Given the description of an element on the screen output the (x, y) to click on. 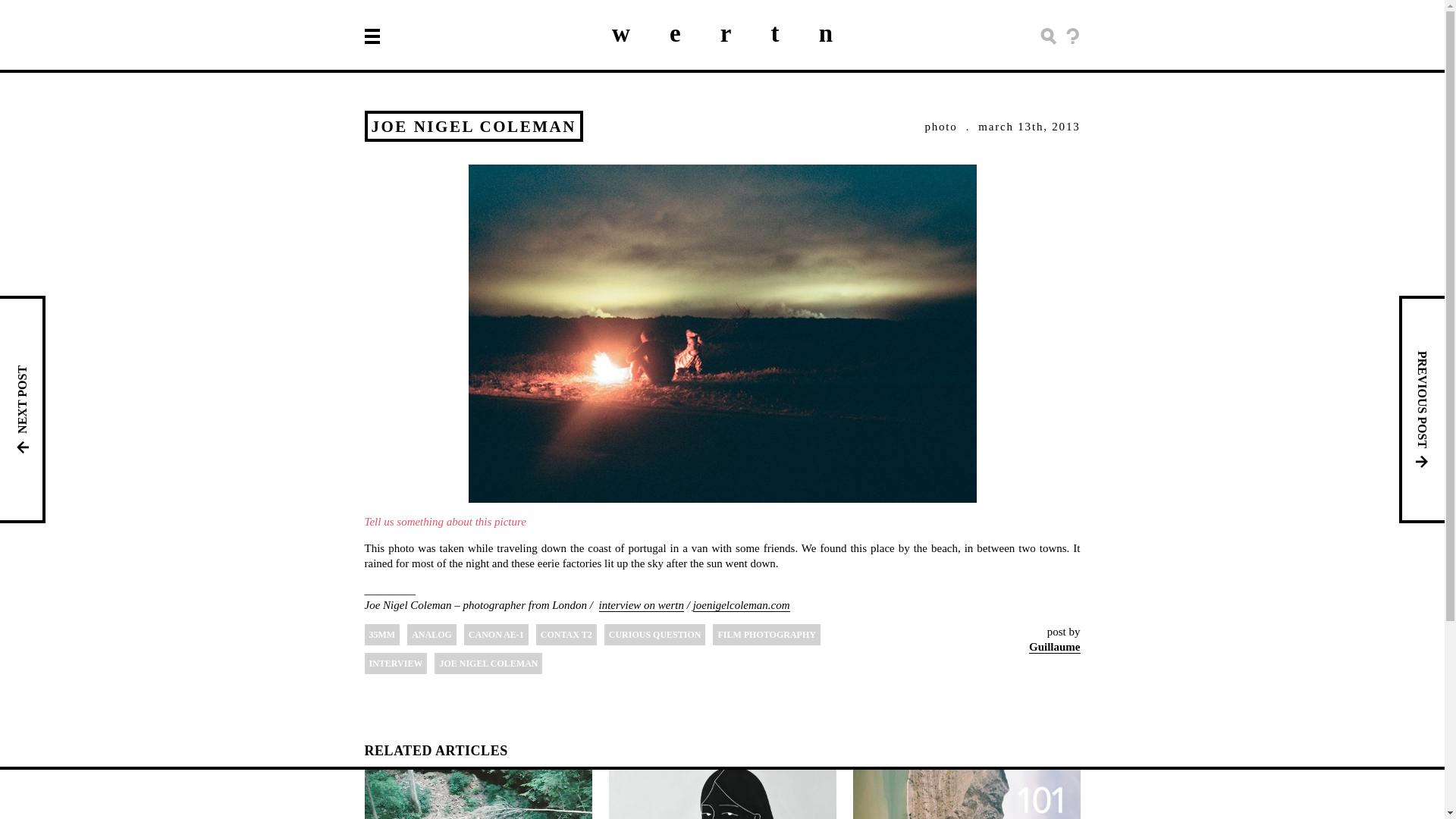
Guillaume (1054, 646)
ANALOG (432, 634)
joenigelcoleman.com (741, 604)
35MM (381, 634)
CANON AE-1 (496, 634)
CONTAX T2 (565, 634)
INTERVIEW (395, 663)
FILM PHOTOGRAPHY (766, 634)
photo (940, 125)
CURIOUS QUESTION (655, 634)
